Given the description of an element on the screen output the (x, y) to click on. 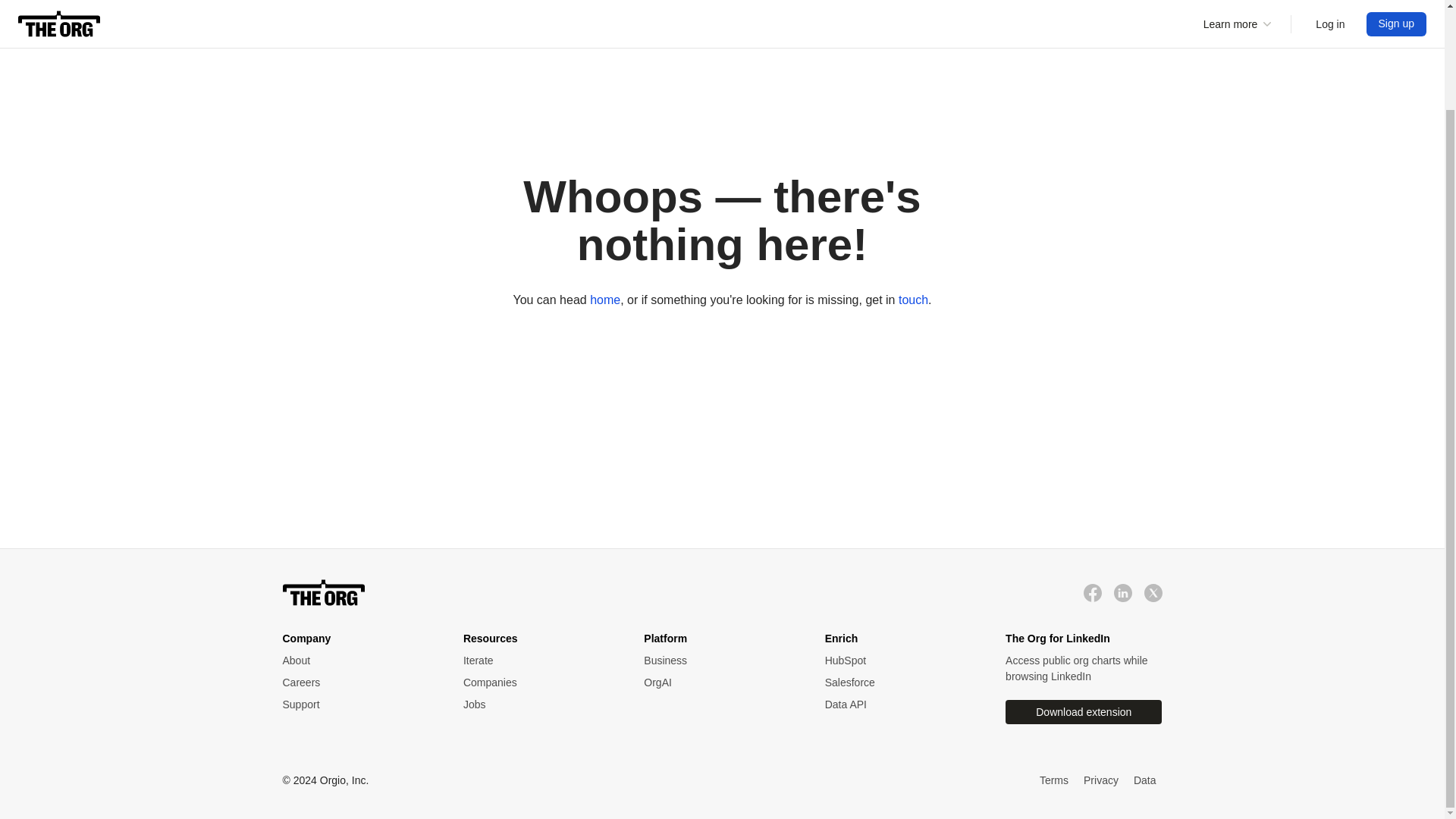
Support (357, 704)
About (357, 660)
Business (718, 660)
Iterate (537, 660)
OrgAI (718, 682)
Jobs (537, 704)
About (357, 660)
Privacy (1100, 780)
HubSpot (900, 660)
Terms (1053, 780)
Facebook (1091, 592)
Jobs (537, 704)
Companies (537, 682)
touch (913, 298)
Data API (900, 704)
